Given the description of an element on the screen output the (x, y) to click on. 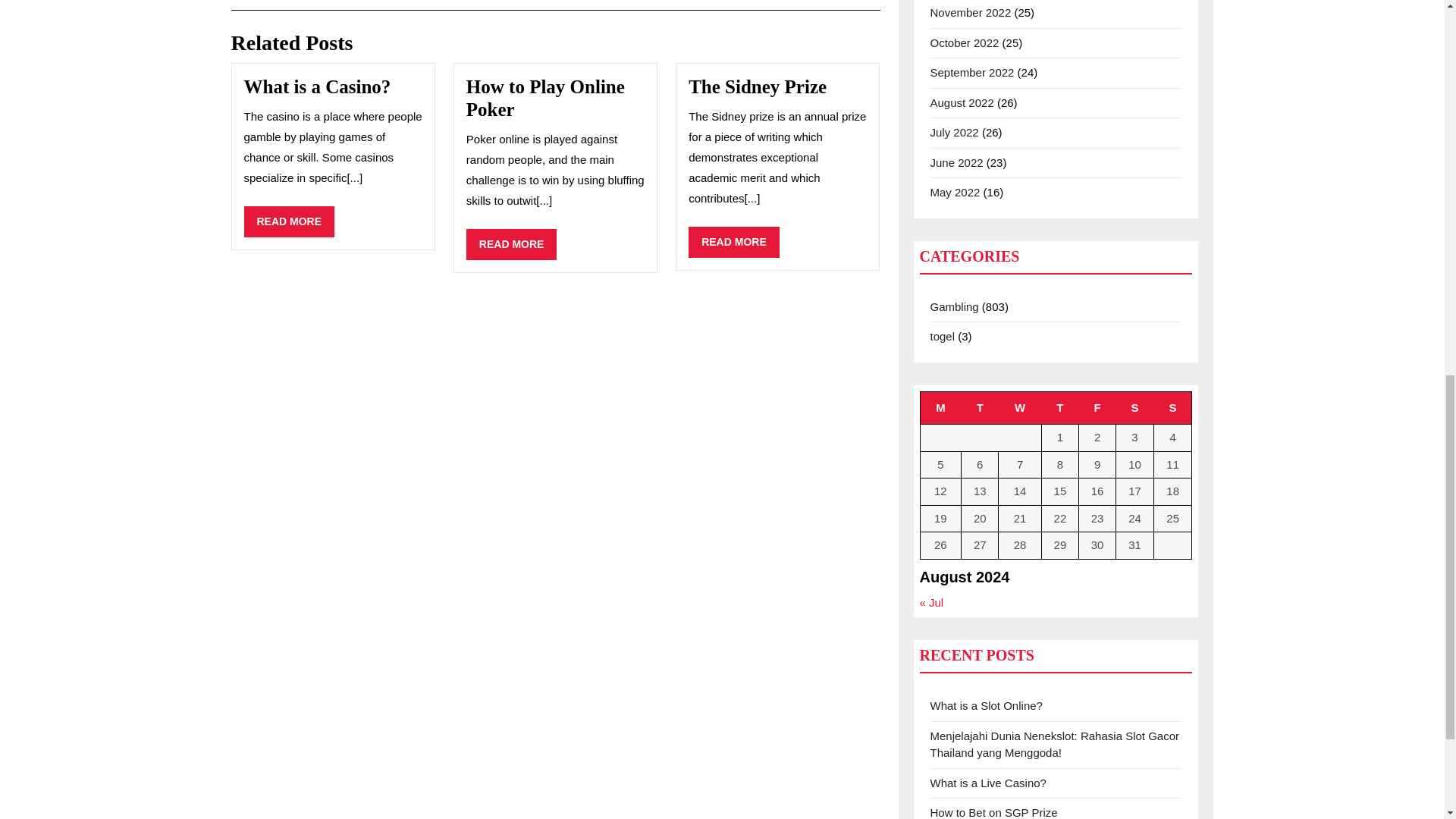
What is a Casino? (317, 86)
Sunday (1172, 408)
Friday (1097, 408)
Monday (511, 244)
Tuesday (940, 408)
How to Play Online Poker (979, 408)
The Sidney Prize (289, 221)
Saturday (544, 97)
Wednesday (733, 241)
Thursday (757, 86)
